Given the description of an element on the screen output the (x, y) to click on. 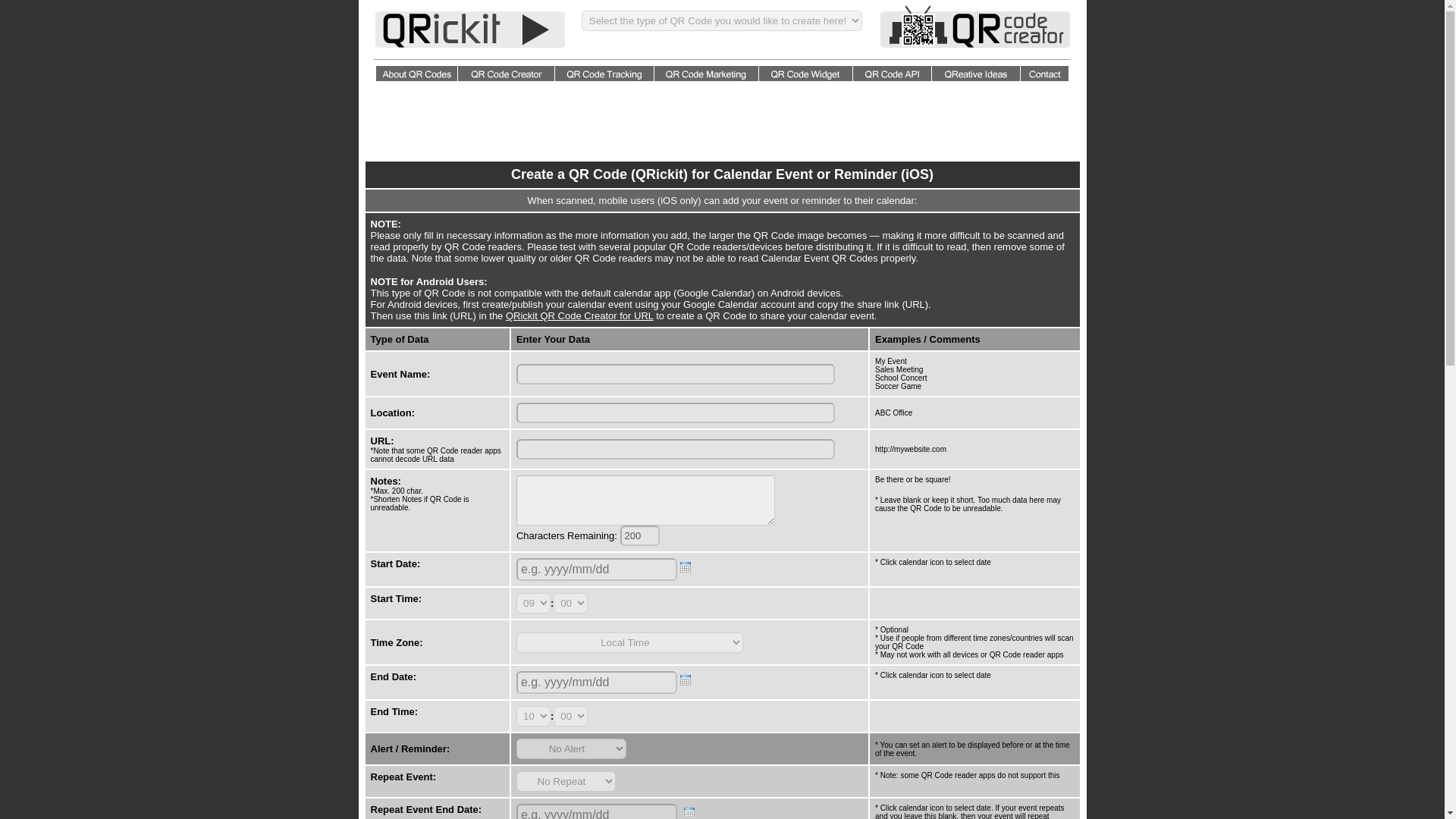
QRickit QR Code Creator for URL (579, 315)
Advertisement (721, 120)
200 (639, 535)
